Given the description of an element on the screen output the (x, y) to click on. 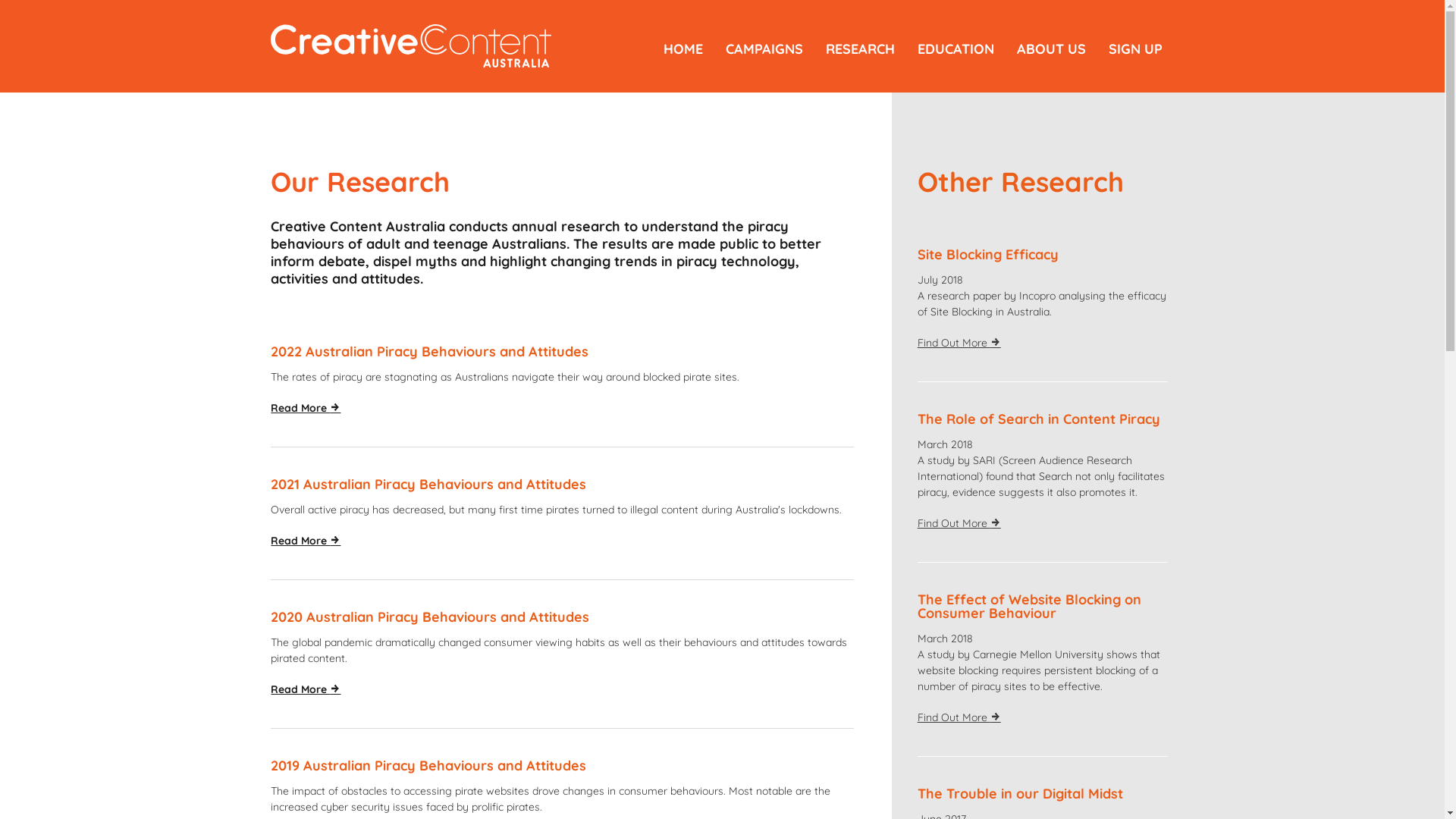
Site Blocking Efficacy Element type: text (987, 254)
2022 Australian Piracy Behaviours and Attitudes Element type: text (429, 351)
2020 Australian Piracy Behaviours and Attitudes Element type: text (429, 616)
Find Out More Element type: text (959, 717)
Read More Element type: text (305, 541)
RESEARCH Element type: text (860, 49)
2021 Australian Piracy Behaviours and Attitudes Element type: text (428, 483)
Find Out More Element type: text (959, 523)
The Effect of Website Blocking on Consumer Behaviour Element type: text (1029, 605)
EDUCATION Element type: text (955, 49)
ABOUT US Element type: text (1051, 49)
2019 Australian Piracy Behaviours and Attitudes Element type: text (428, 765)
The Role of Search in Content Piracy Element type: text (1038, 418)
CAMPAIGNS Element type: text (764, 49)
SIGN UP Element type: text (1135, 49)
HOME Element type: text (683, 49)
Read More Element type: text (305, 689)
Read More Element type: text (305, 408)
The Trouble in our Digital Midst Element type: text (1020, 793)
Find Out More Element type: text (959, 343)
